Given the description of an element on the screen output the (x, y) to click on. 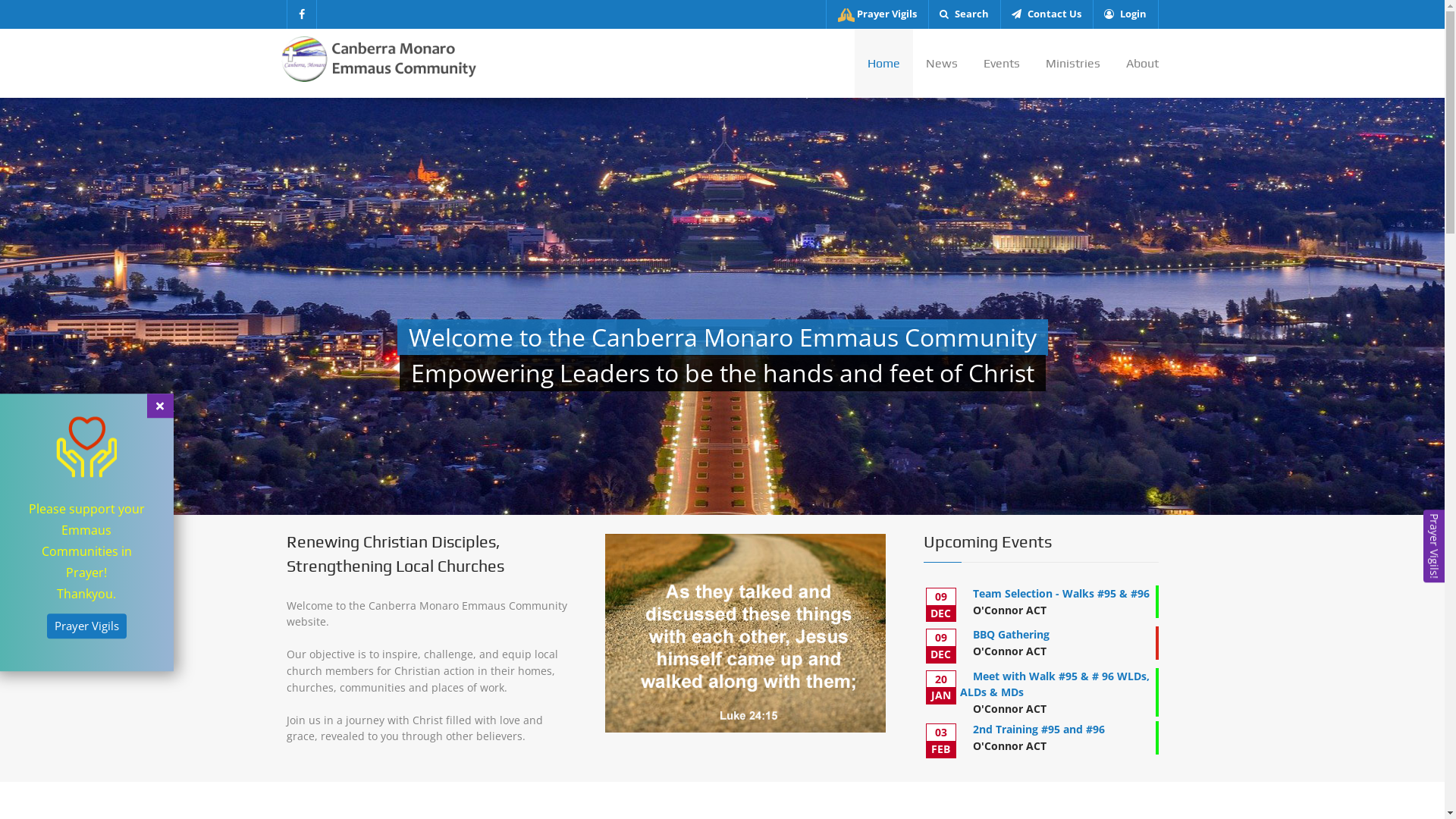
Team Selection - Walks #95 & #96 Element type: text (1060, 593)
Prayer Vigils Element type: text (877, 14)
Prayer Vigils Element type: text (1027, 500)
Contact the National webmaster Element type: hover (871, 782)
About Element type: text (1135, 62)
Canberra Monaro Facebook Page Element type: hover (1144, 782)
Daily Reflections Element type: text (1027, 544)
News Element type: text (941, 62)
Terms & Conditions Element type: text (1027, 611)
Search Element type: text (964, 14)
Login Element type: text (1124, 14)
20
JAN Element type: text (940, 687)
Login - Registered Users Element type: hover (904, 782)
BBQ Gathering Element type: text (1010, 634)
Prayer Vigils Element type: text (86, 625)
Login - Registered Users Element type: text (1027, 633)
2nd Training #95 and #96 Element type: text (1038, 728)
Contact Us Element type: text (1027, 566)
Australian Emmaus Communities Element type: text (1027, 522)
Home Element type: text (882, 62)
09
DEC Element type: text (940, 604)
General Enquiry Element type: text (336, 521)
Meet with Walk #95 & # 96 WLDs, ALDs & MDs Element type: text (1055, 683)
Emmaus Ministries Australia Element type: text (367, 565)
Events Element type: text (1001, 62)
Canberra Monaro Emmaus Community Element type: hover (380, 57)
03
FEB Element type: text (940, 740)
Canberra Monaro Facebook Page Element type: hover (301, 14)
Privacy Policy Element type: text (1027, 588)
09
DEC Element type: text (940, 645)
Contact Us Element type: text (1045, 14)
CMEC - Facebook Page Element type: text (351, 543)
Ministries Element type: text (1072, 62)
